Given the description of an element on the screen output the (x, y) to click on. 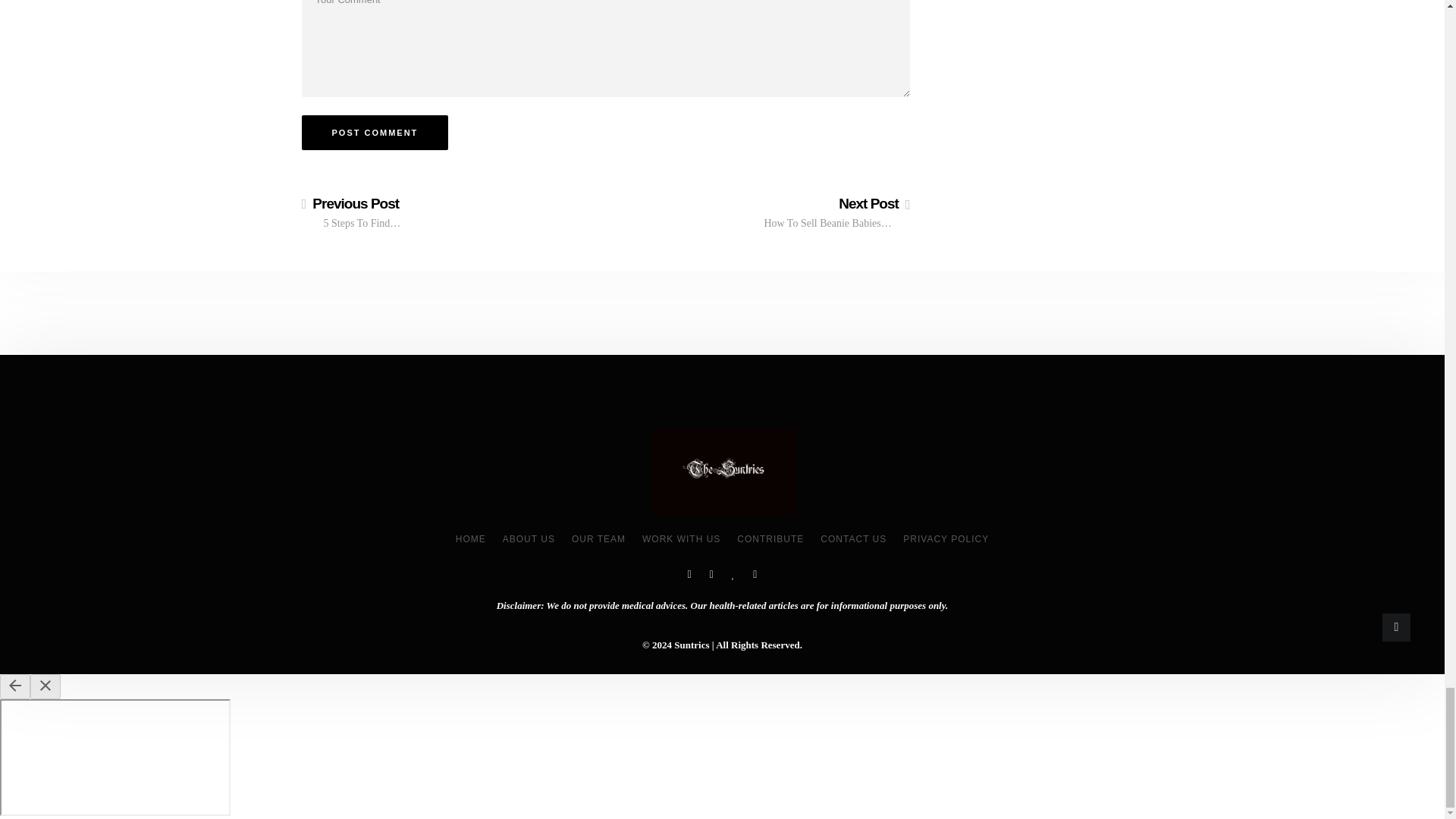
Post Comment (374, 132)
